Given the description of an element on the screen output the (x, y) to click on. 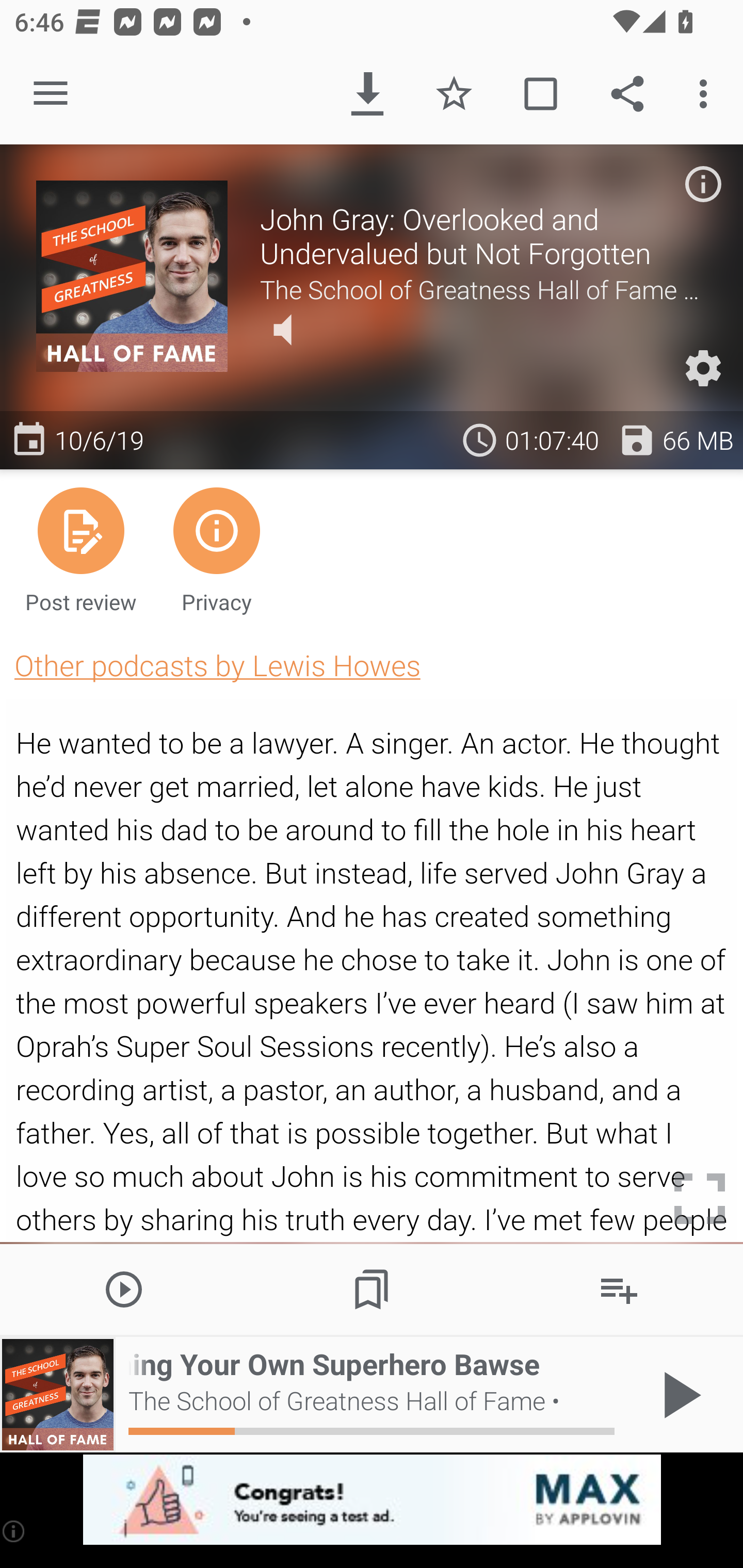
Open navigation sidebar (50, 93)
Download (366, 93)
Favorite (453, 93)
Mark played / unplayed (540, 93)
Share (626, 93)
More options (706, 93)
Podcast description (703, 184)
Custom Settings (703, 368)
Post review (81, 549)
Privacy (216, 549)
Other podcasts by Lewis Howes (217, 665)
Toggle full screen mode (699, 1198)
Play (123, 1288)
Chapters / Bookmarks (371, 1288)
Add to Playlist (619, 1288)
Play / Pause (677, 1394)
app-monetization (371, 1500)
(i) (14, 1531)
